Given the description of an element on the screen output the (x, y) to click on. 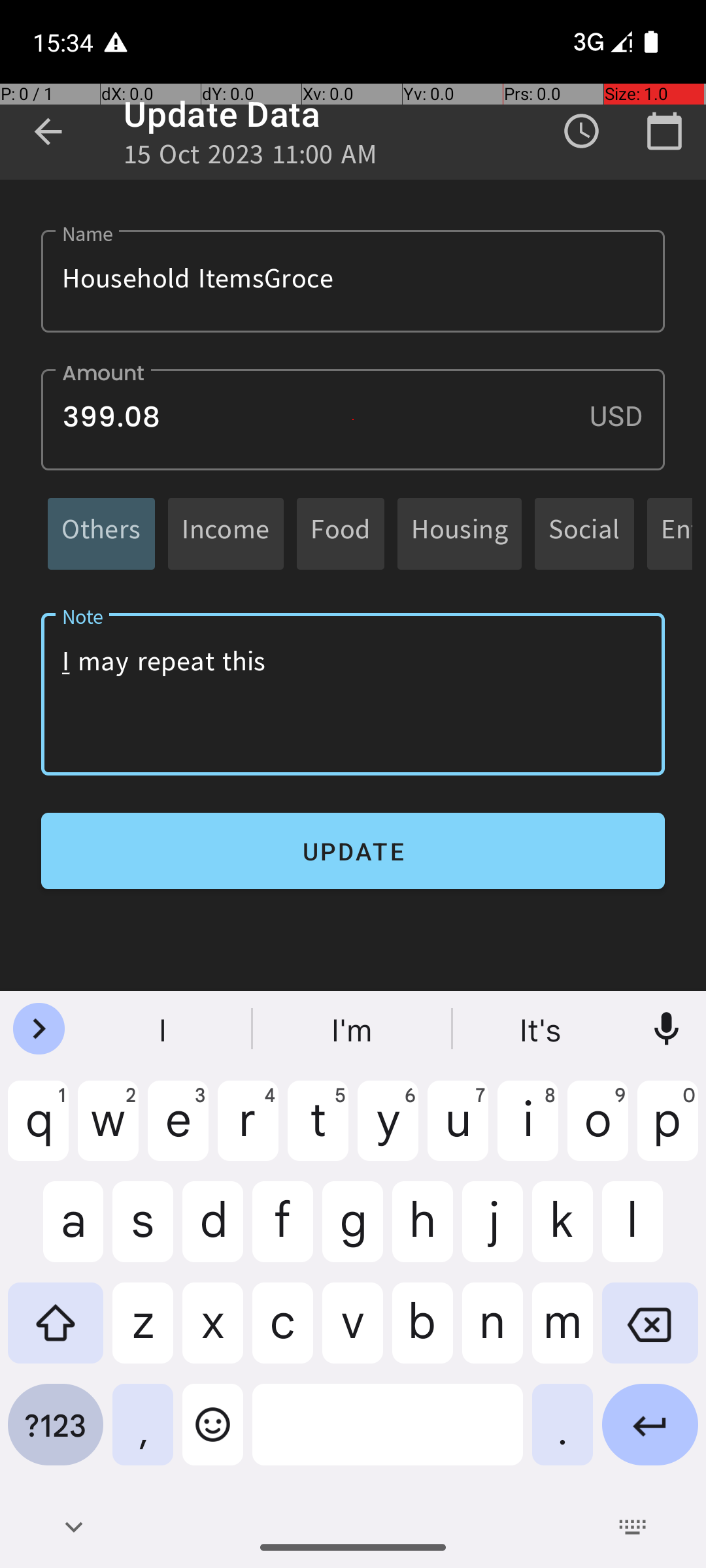
Update Data Element type: android.widget.TextView (221, 113)
15 Oct 2023 11:00 AM Element type: android.widget.TextView (250, 157)
Household ItemsGroce Element type: android.widget.EditText (352, 280)
399.08 Element type: android.widget.EditText (352, 419)
I may repeat this Element type: android.widget.EditText (352, 693)
UPDATE Element type: android.widget.Button (352, 850)
Others Element type: android.widget.TextView (101, 533)
Open features menu Element type: android.widget.FrameLayout (39, 1028)
I Element type: android.widget.FrameLayout (163, 1028)
I'm Element type: android.widget.FrameLayout (352, 1028)
It's Element type: android.widget.FrameLayout (541, 1028)
q Element type: android.widget.FrameLayout (38, 1130)
w Element type: android.widget.FrameLayout (108, 1130)
e Element type: android.widget.FrameLayout (178, 1130)
r Element type: android.widget.FrameLayout (248, 1130)
t Element type: android.widget.FrameLayout (318, 1130)
y Element type: android.widget.FrameLayout (387, 1130)
u Element type: android.widget.FrameLayout (457, 1130)
i Element type: android.widget.FrameLayout (527, 1130)
o Element type: android.widget.FrameLayout (597, 1130)
p Element type: android.widget.FrameLayout (667, 1130)
a Element type: android.widget.FrameLayout (55, 1231)
s Element type: android.widget.FrameLayout (142, 1231)
d Element type: android.widget.FrameLayout (212, 1231)
f Element type: android.widget.FrameLayout (282, 1231)
g Element type: android.widget.FrameLayout (352, 1231)
h Element type: android.widget.FrameLayout (422, 1231)
j Element type: android.widget.FrameLayout (492, 1231)
k Element type: android.widget.FrameLayout (562, 1231)
l Element type: android.widget.FrameLayout (649, 1231)
z Element type: android.widget.FrameLayout (142, 1332)
x Element type: android.widget.FrameLayout (212, 1332)
c Element type: android.widget.FrameLayout (282, 1332)
v Element type: android.widget.FrameLayout (352, 1332)
b Element type: android.widget.FrameLayout (422, 1332)
n Element type: android.widget.FrameLayout (492, 1332)
m Element type: android.widget.FrameLayout (562, 1332)
Enter Element type: android.widget.FrameLayout (649, 1434)
